Given the description of an element on the screen output the (x, y) to click on. 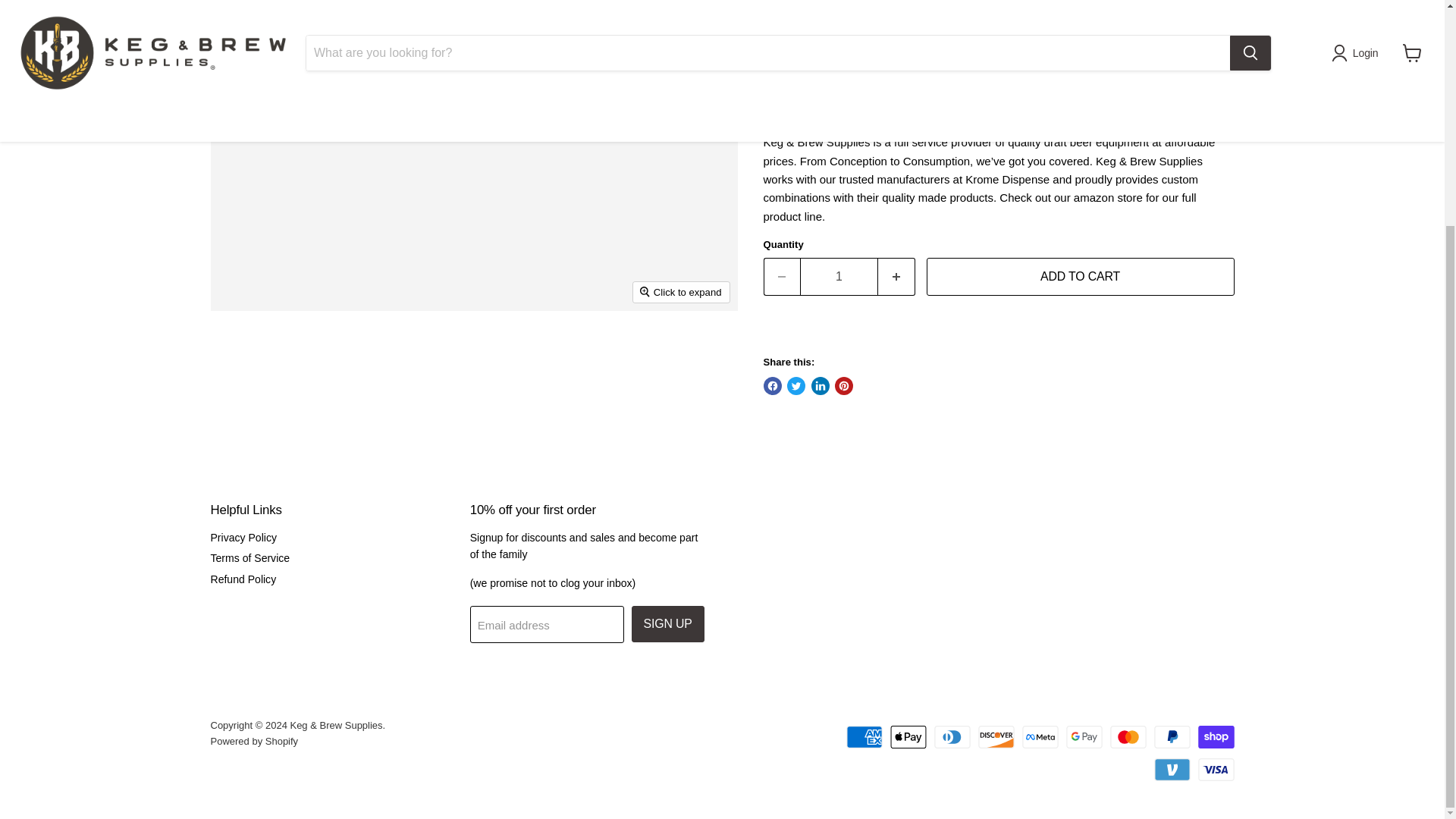
Discover (996, 736)
Google Pay (1083, 736)
Meta Pay (1040, 736)
PayPal (1172, 736)
Apple Pay (907, 736)
American Express (863, 736)
Shop Pay (1216, 736)
Mastercard (1128, 736)
1 (838, 276)
Diners Club (952, 736)
